Given the description of an element on the screen output the (x, y) to click on. 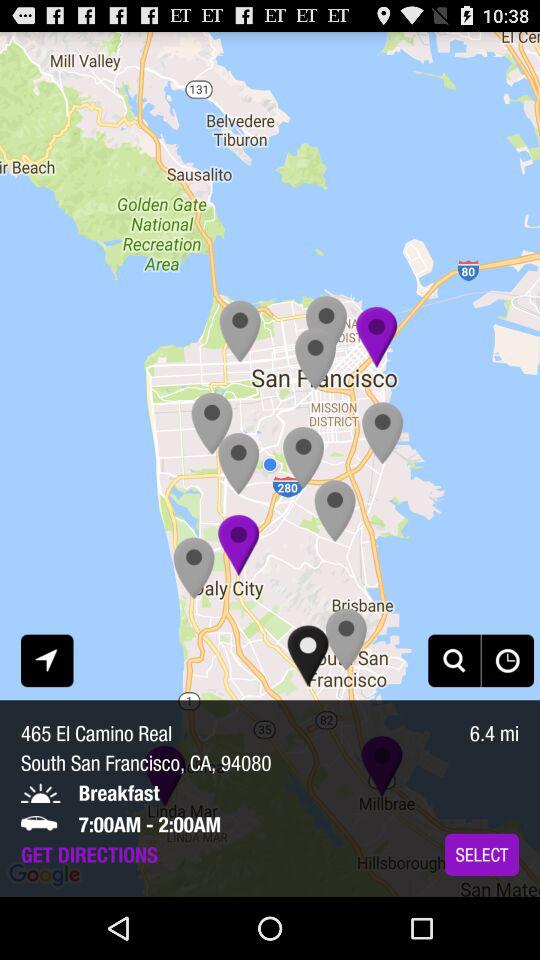
select the app below the 6.4 mi (482, 854)
